Given the description of an element on the screen output the (x, y) to click on. 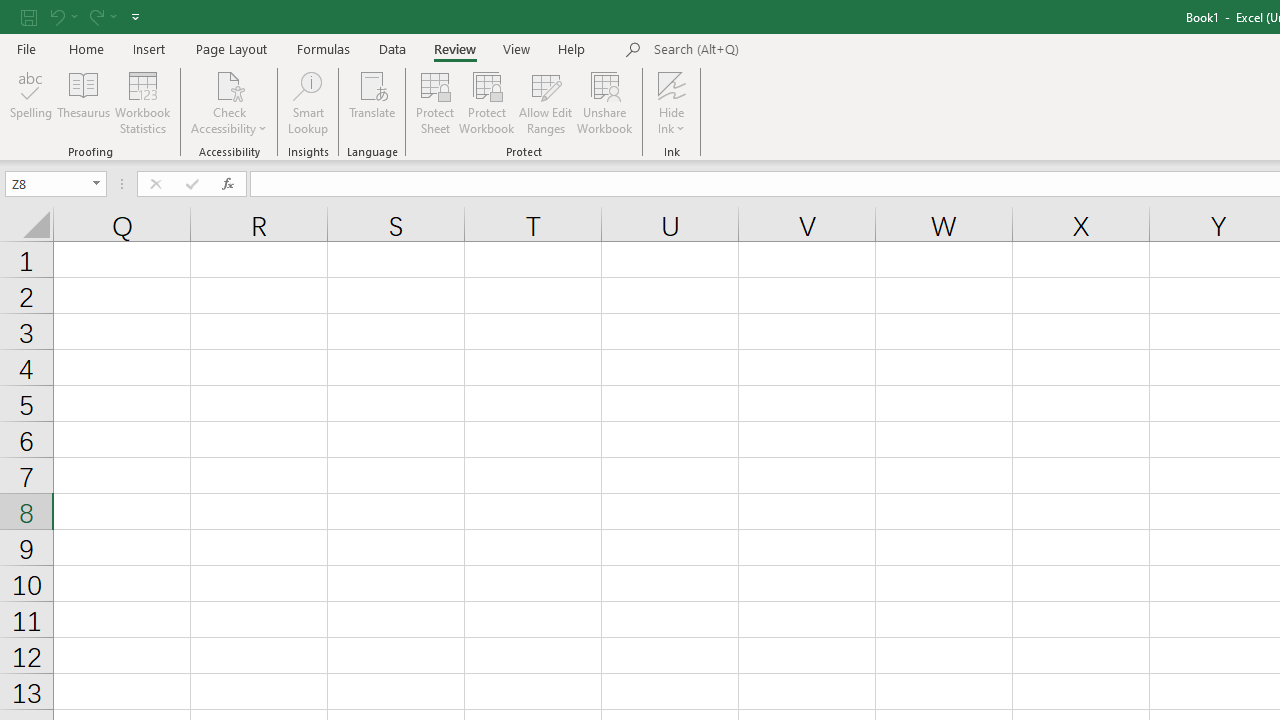
Review (454, 48)
Hide Ink (671, 102)
Data (392, 48)
File Tab (26, 48)
Smart Lookup (308, 102)
Unshare Workbook (604, 102)
Formulas (323, 48)
Check Accessibility (229, 102)
Redo (102, 15)
Protect Workbook... (486, 102)
Name Box (46, 183)
Home (86, 48)
Microsoft search (792, 49)
Thesaurus... (83, 102)
System (10, 11)
